Given the description of an element on the screen output the (x, y) to click on. 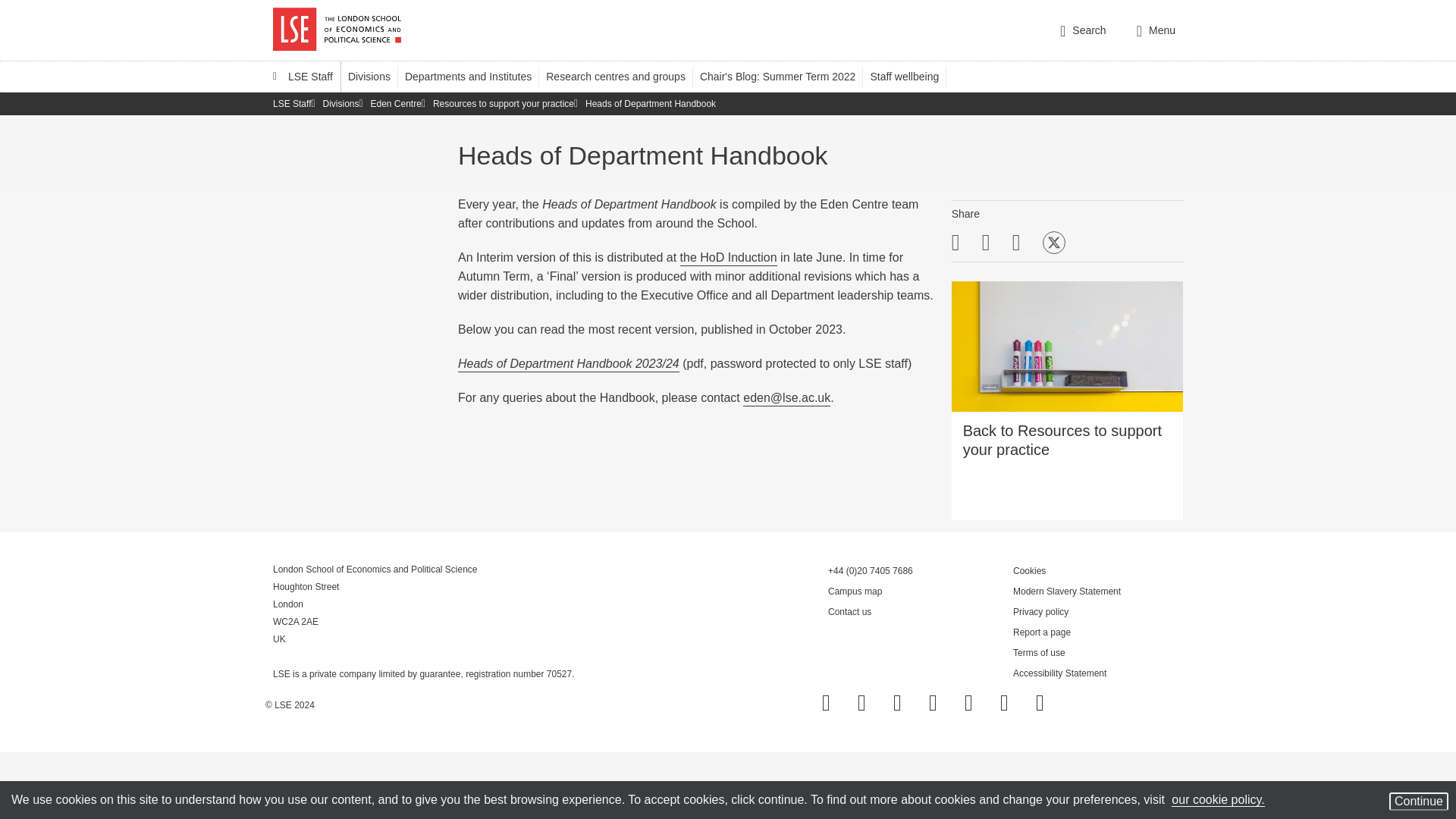
Divisions (375, 76)
Departments and Institutes (475, 76)
Staff (302, 76)
Chair's Blog: Summer Term 2022 (785, 76)
Departments and Institutes (475, 76)
Divisions (375, 76)
London School of Economics and Political Science (337, 30)
Search (1083, 30)
Staff wellbeing (911, 76)
Staff wellbeing (911, 76)
Chair's Blog: Summer Term 2022 (785, 76)
LSE Staff (302, 76)
Research centres and groups (623, 76)
Menu (1156, 30)
